Given the description of an element on the screen output the (x, y) to click on. 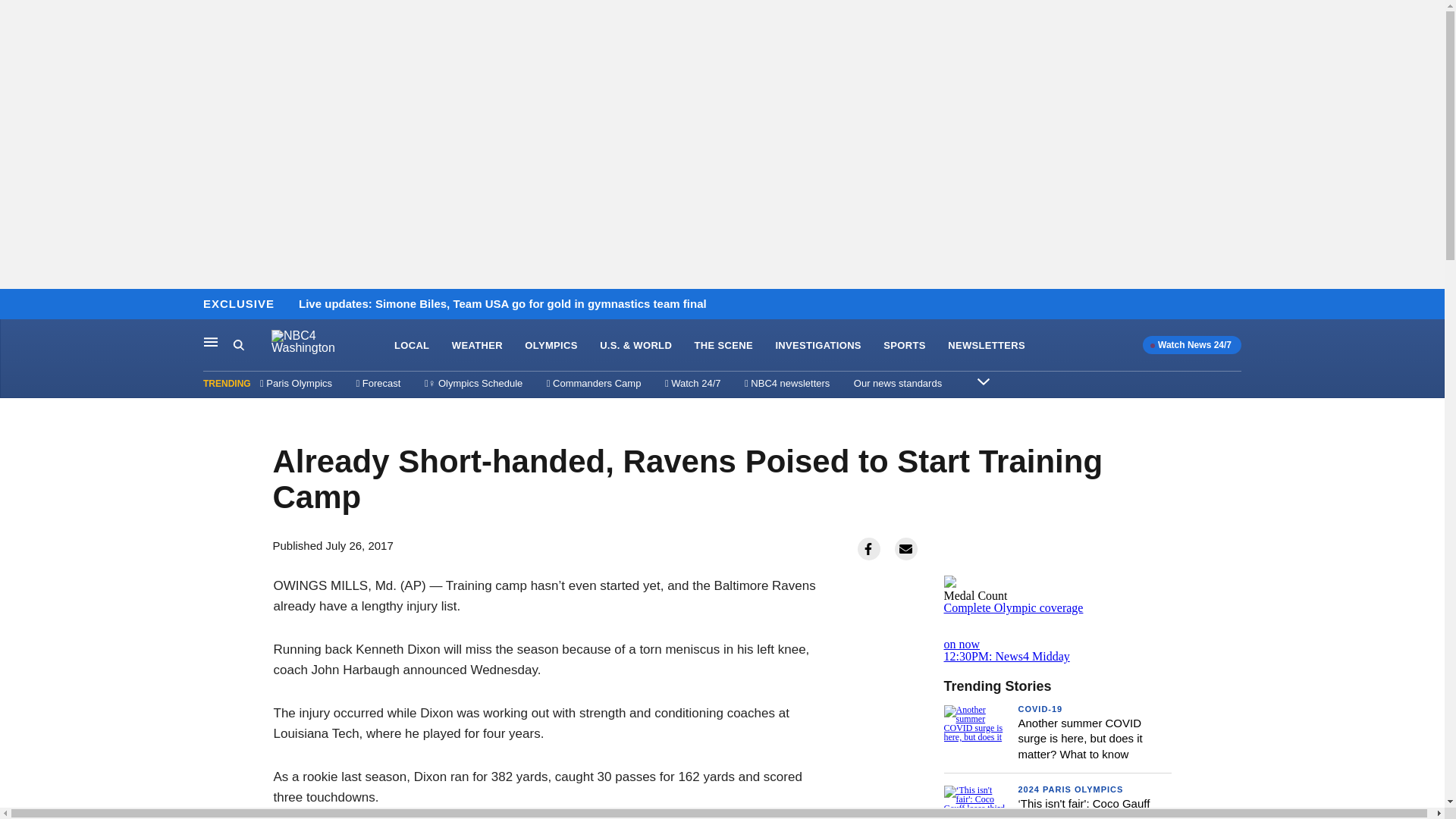
NEWSLETTERS (986, 345)
WEATHER (476, 345)
Skip to content (16, 304)
Complete Olympic coverage (1013, 607)
SPORTS (903, 345)
THE SCENE (723, 345)
Expand (983, 381)
INVESTIGATIONS (817, 345)
Search (252, 345)
LOCAL (411, 345)
OLYMPICS (550, 345)
2024 PARIS OLYMPICS (1069, 788)
Search (238, 344)
